Given the description of an element on the screen output the (x, y) to click on. 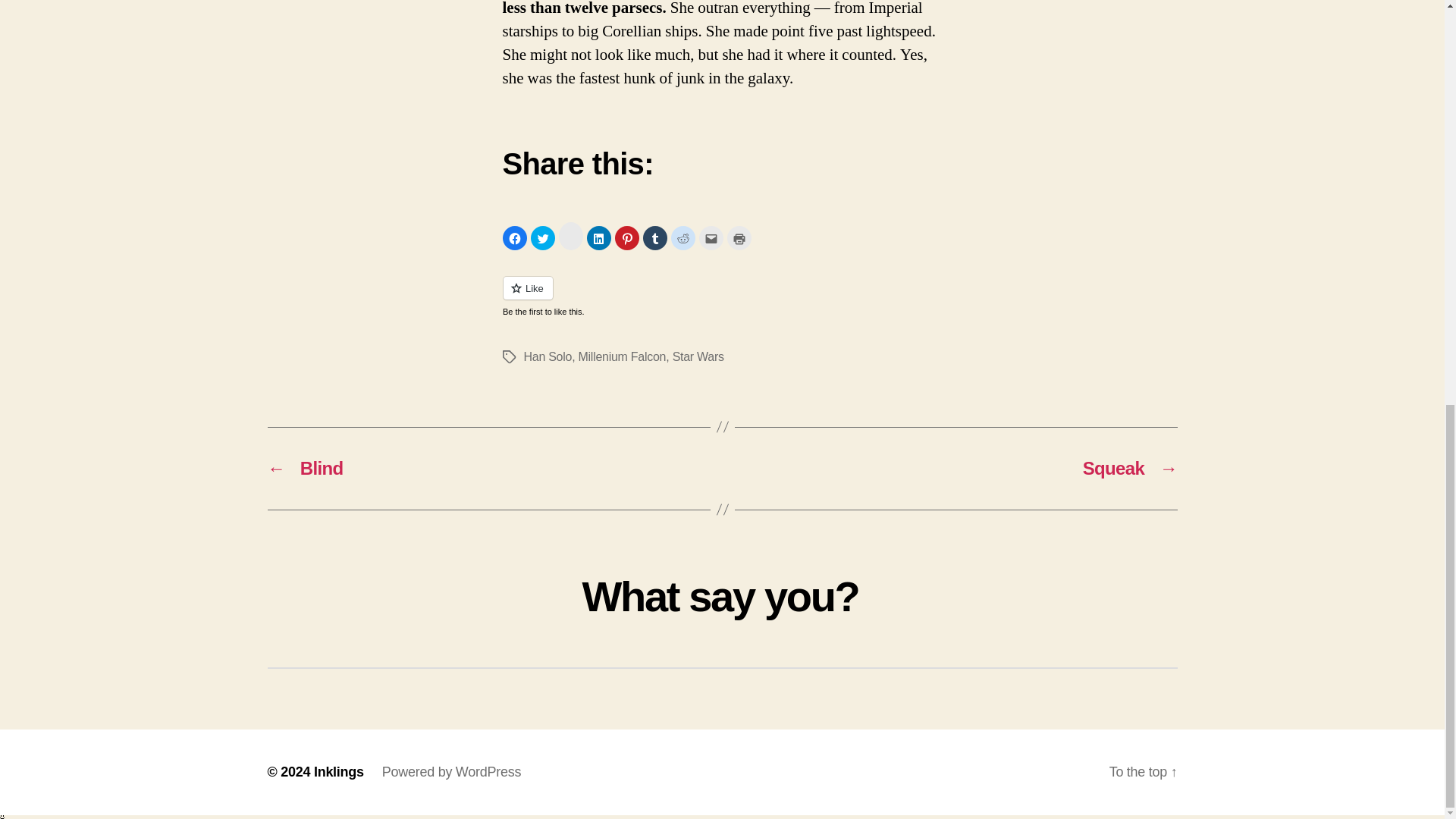
Inklings (339, 771)
Click to share on Reddit (681, 238)
Powered by WordPress (451, 771)
Click to email this to a friend (710, 238)
Click to share on Pinterest (626, 238)
Han Solo (547, 356)
Click to share on Facebook (513, 238)
Star Wars (697, 356)
Click to share on Tumblr (654, 238)
Click to print (738, 238)
Millenium Falcon (622, 356)
Click to share on Twitter (542, 238)
Click to share on LinkedIn (598, 238)
